Given the description of an element on the screen output the (x, y) to click on. 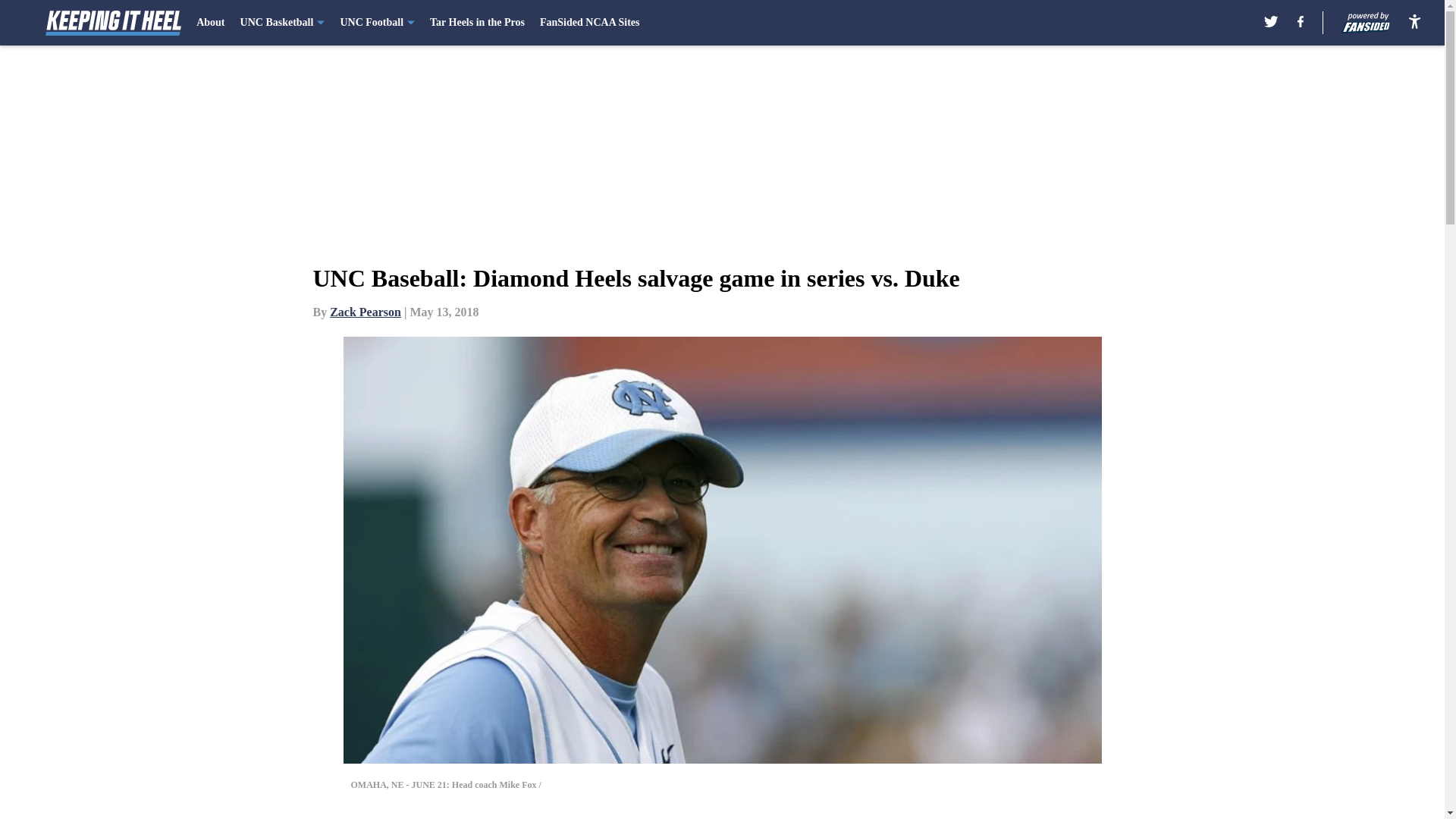
FanSided NCAA Sites (589, 22)
Tar Heels in the Pros (476, 22)
Zack Pearson (365, 311)
About (210, 22)
